Given the description of an element on the screen output the (x, y) to click on. 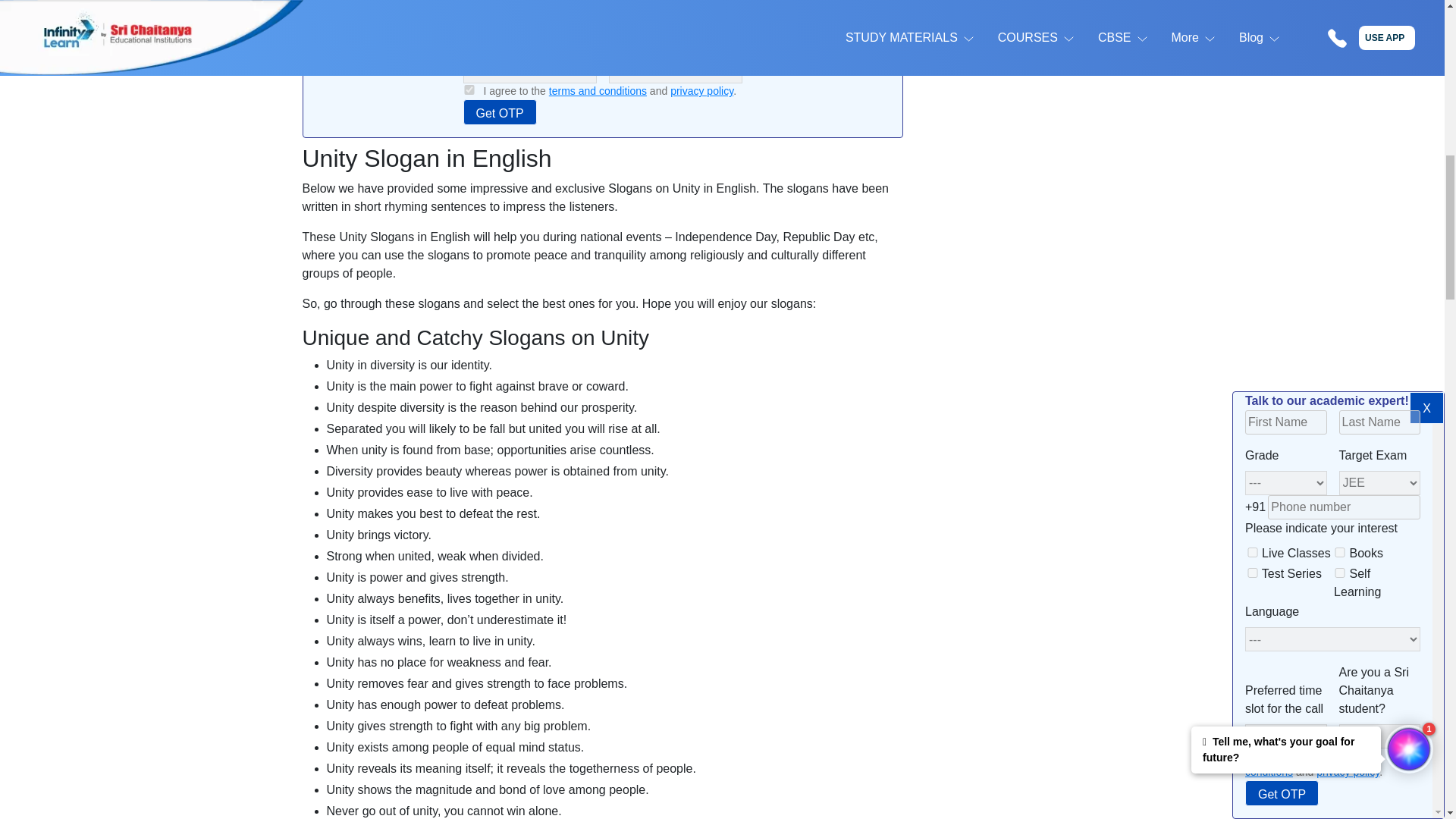
Get OTP (499, 112)
1 (468, 90)
